Given the description of an element on the screen output the (x, y) to click on. 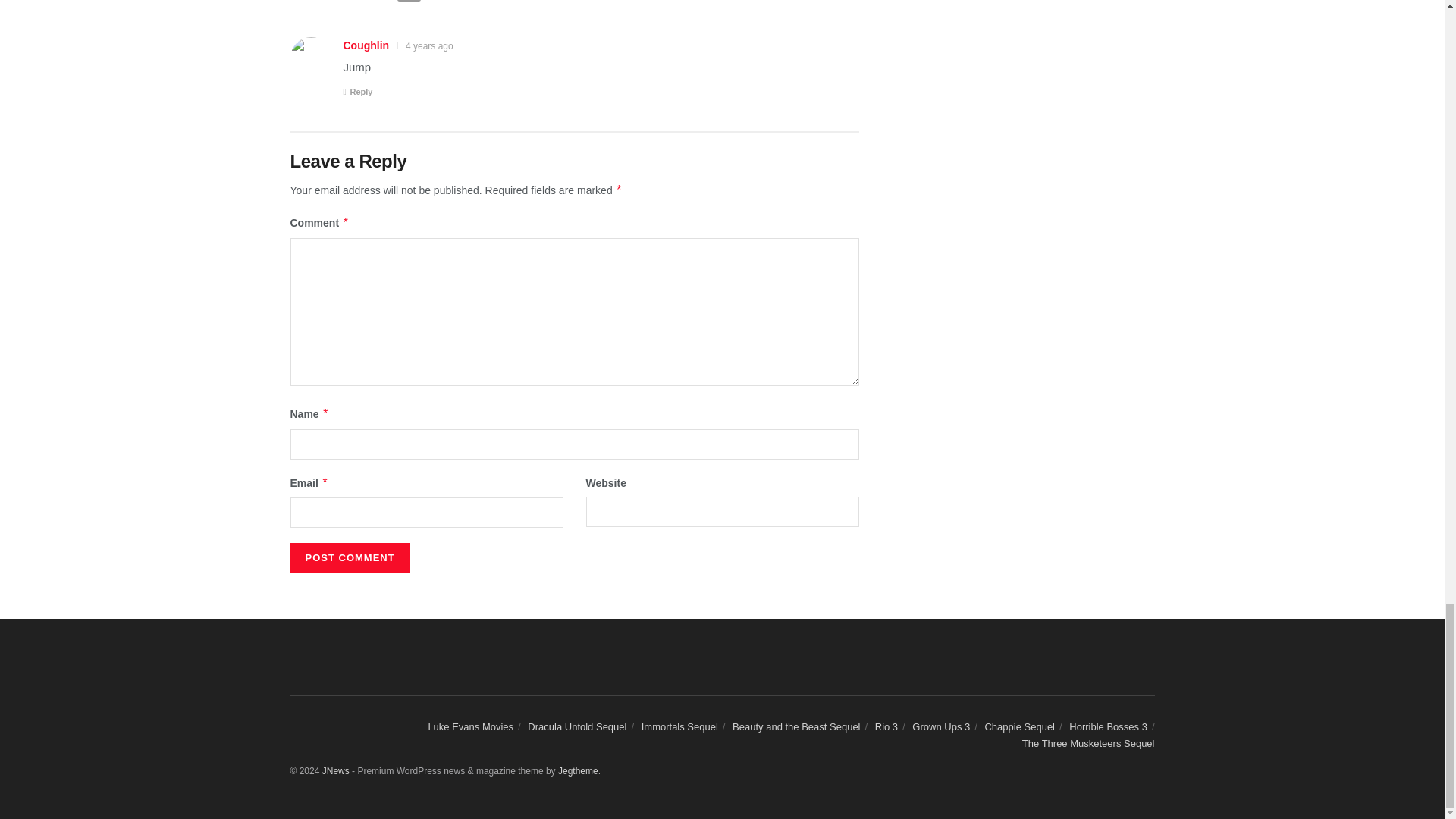
Jegtheme (577, 770)
Post Comment (349, 557)
